Given the description of an element on the screen output the (x, y) to click on. 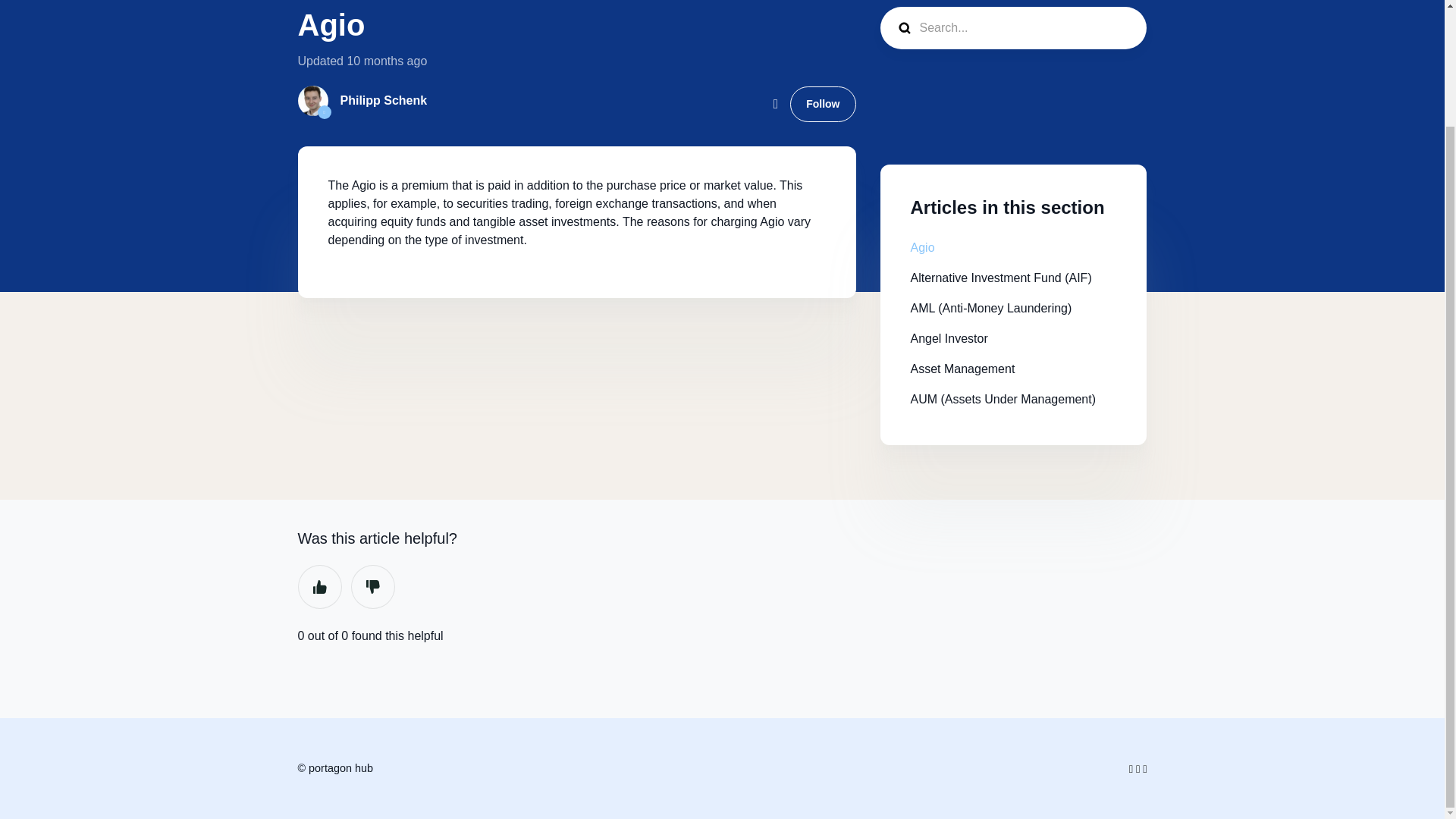
2023-10-28 00:38 (386, 60)
Agio (922, 246)
Philipp Schenk (382, 100)
Return to top (42, 699)
No (372, 587)
Follow (823, 103)
Return to top (42, 699)
Angel Investor (948, 338)
Yes (318, 587)
Asset Management (962, 368)
